Given the description of an element on the screen output the (x, y) to click on. 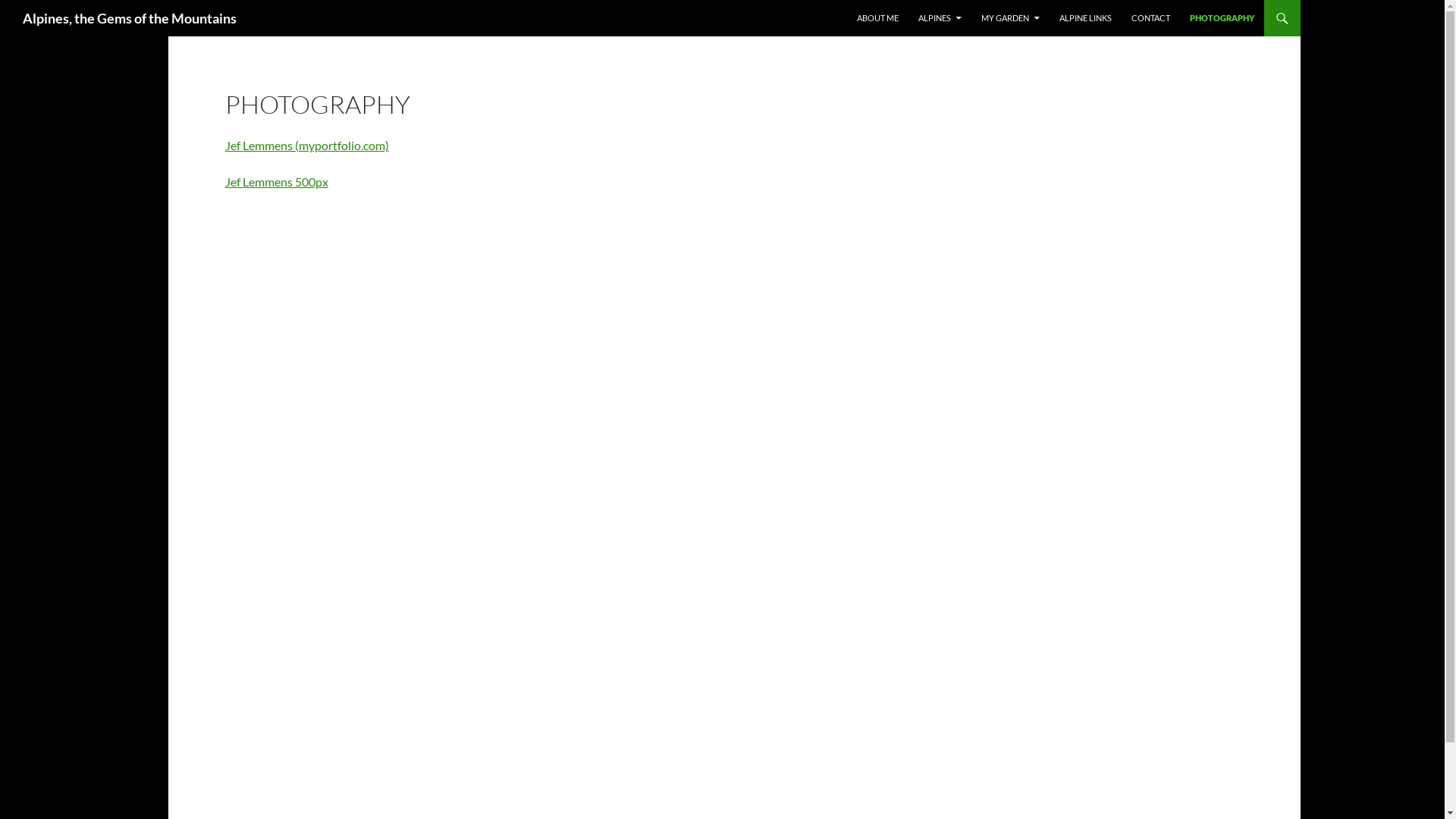
CONTACT Element type: text (1150, 18)
ABOUT ME Element type: text (877, 18)
Jef Lemmens (myportfolio.com) Element type: text (307, 145)
Jef Lemmens 500px Element type: text (276, 181)
Alpines, the Gems of the Mountains Element type: text (129, 18)
PHOTOGRAPHY Element type: text (1220, 18)
ALPINE LINKS Element type: text (1084, 18)
MY GARDEN Element type: text (1010, 18)
ALPINES Element type: text (938, 18)
